Given the description of an element on the screen output the (x, y) to click on. 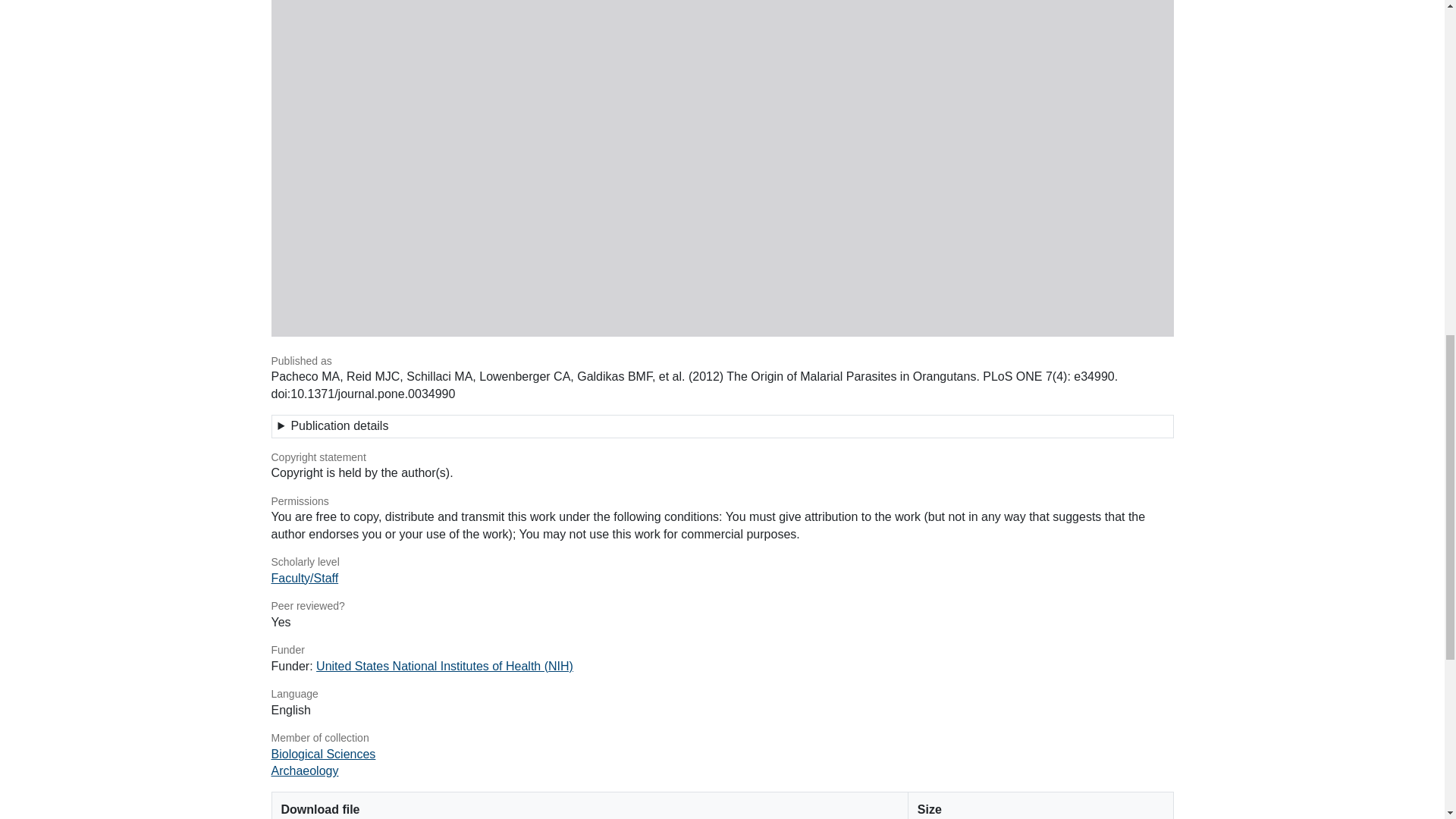
Published as (721, 361)
Permissions (721, 501)
Archaeology (304, 770)
Copyright statement (721, 458)
Biological Sciences (322, 753)
